Given the description of an element on the screen output the (x, y) to click on. 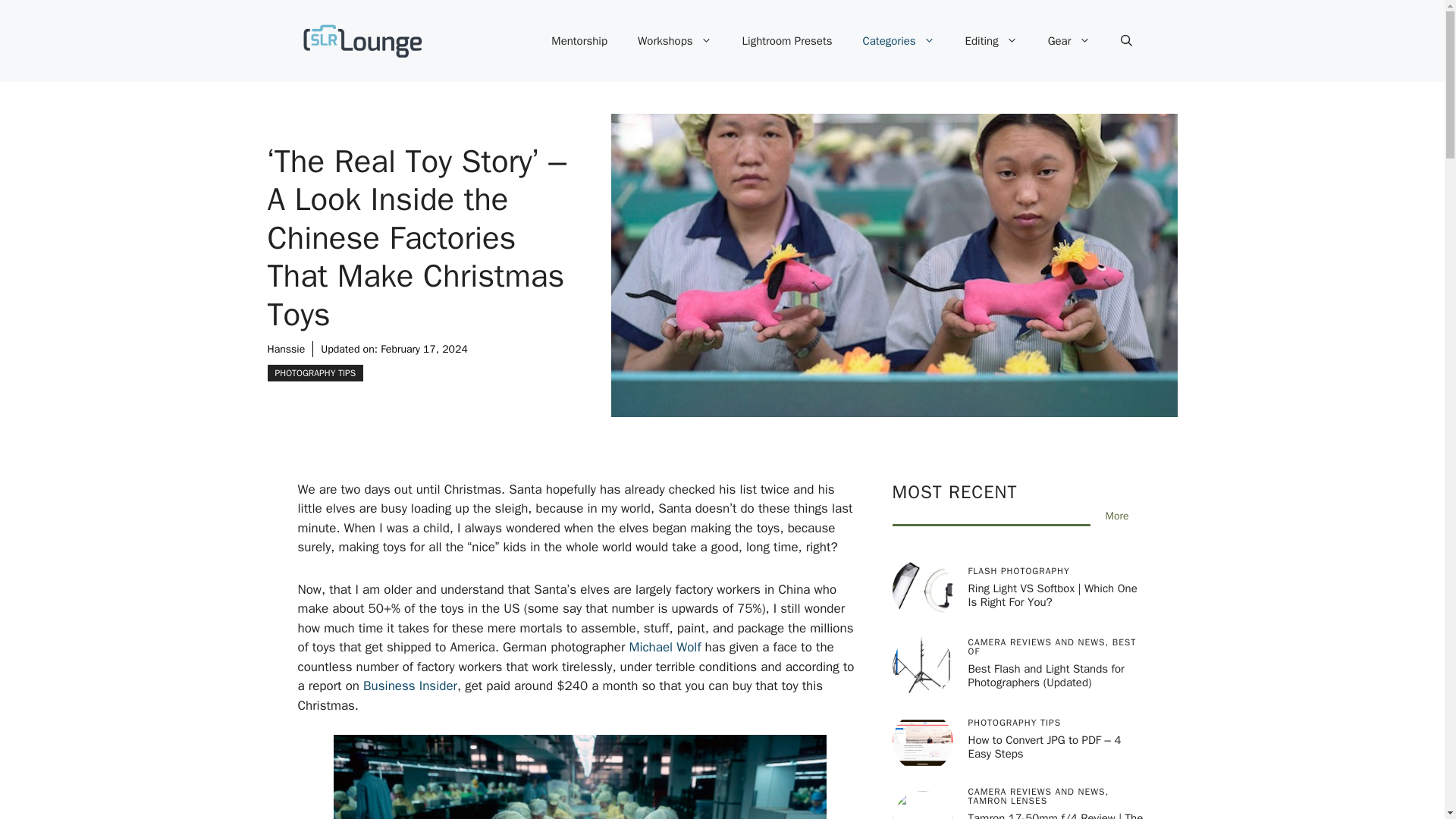
PHOTOGRAPHY TIPS (314, 372)
Categories (898, 40)
Workshops (674, 40)
Mentorship (579, 40)
Editing (991, 40)
Hanssie (285, 349)
Gear (1068, 40)
Lightroom Presets (786, 40)
